Given the description of an element on the screen output the (x, y) to click on. 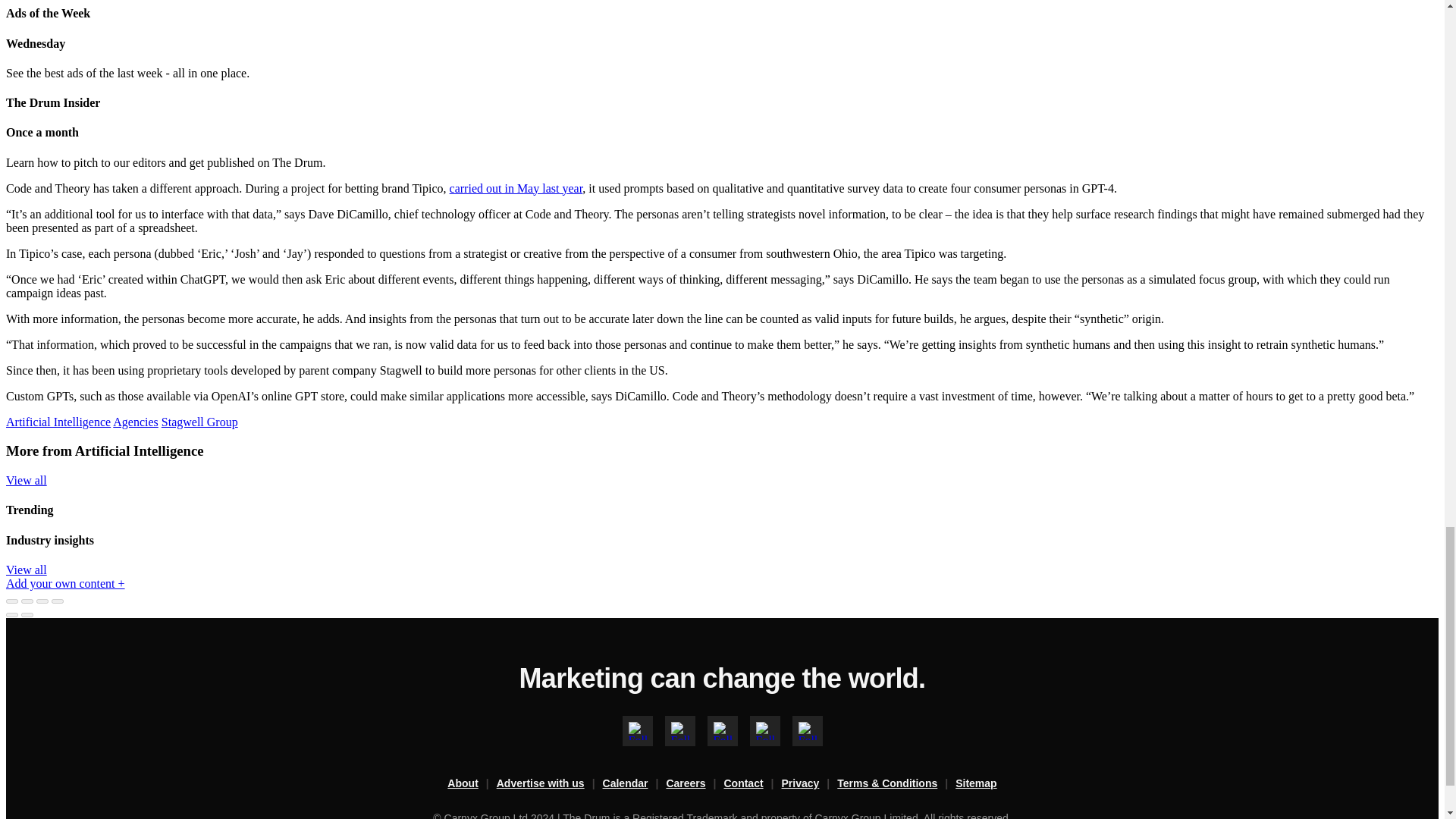
About (471, 783)
Stagwell Group (199, 421)
carried out in May last year (516, 187)
Share (27, 600)
Toggle fullscreen (42, 600)
Advertise with us (549, 783)
View all (25, 569)
View all (25, 480)
Agencies (135, 421)
Artificial Intelligence (57, 421)
